Given the description of an element on the screen output the (x, y) to click on. 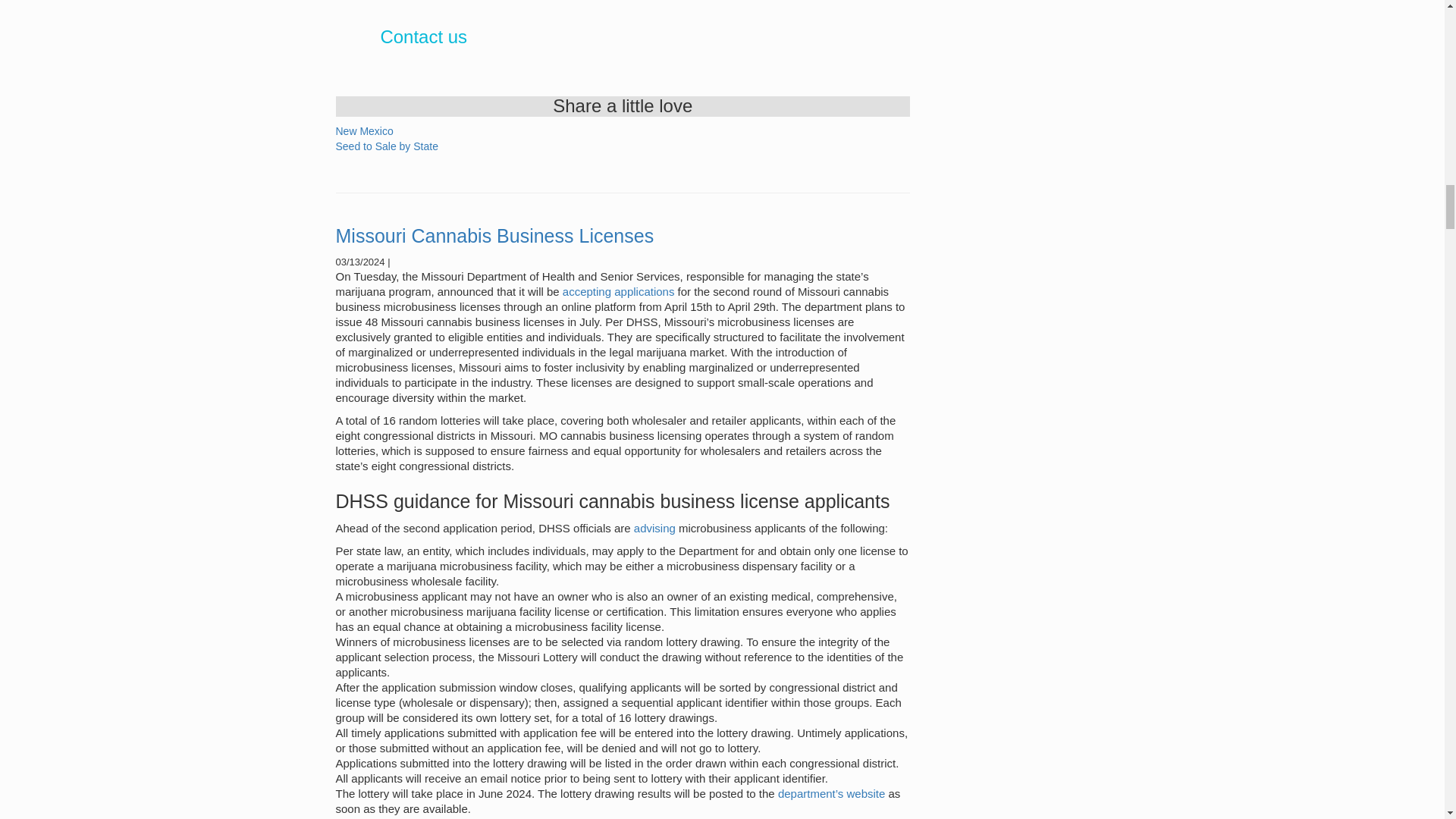
New Mexico (363, 131)
Seed to Sale by State (386, 146)
Missouri Cannabis Business Licenses (493, 235)
Missouri Cannabis Business Licenses (493, 235)
accepting applications  (620, 291)
advising (654, 527)
Contact us (423, 36)
